Given the description of an element on the screen output the (x, y) to click on. 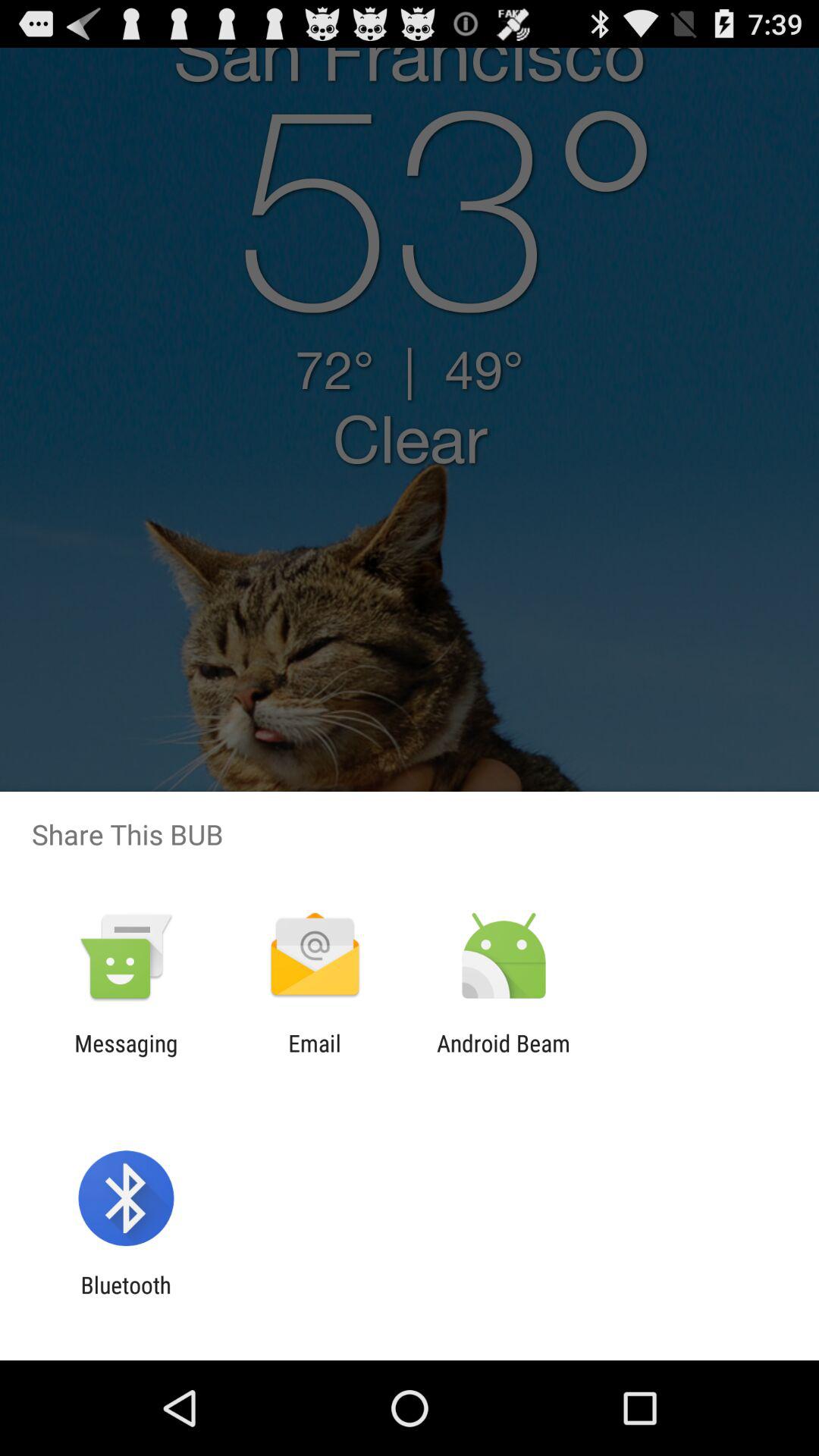
tap the icon to the right of email icon (503, 1056)
